Given the description of an element on the screen output the (x, y) to click on. 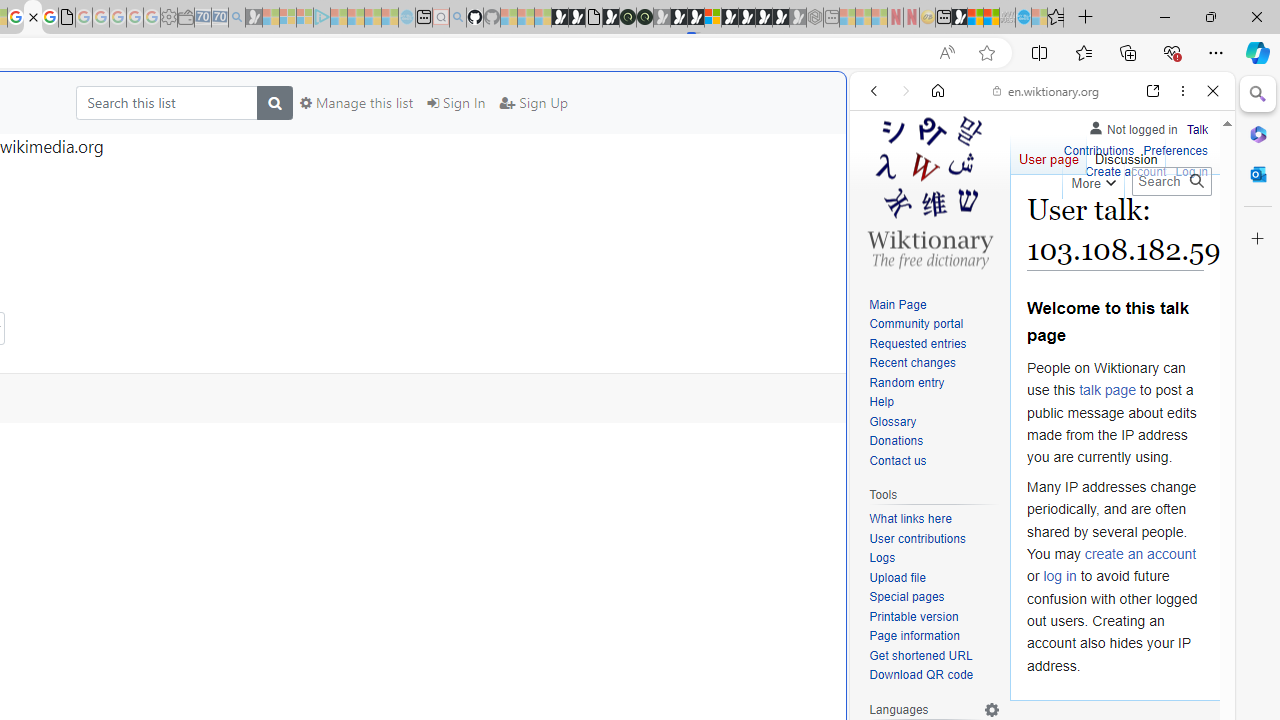
Glossary (934, 421)
Logs (934, 558)
More (1092, 179)
Glossary (892, 421)
Get shortened URL (920, 655)
en.wiktionary.org (1046, 90)
Create account (1125, 169)
Recent changes (934, 363)
Future Focus Report 2024 (644, 17)
